Given the description of an element on the screen output the (x, y) to click on. 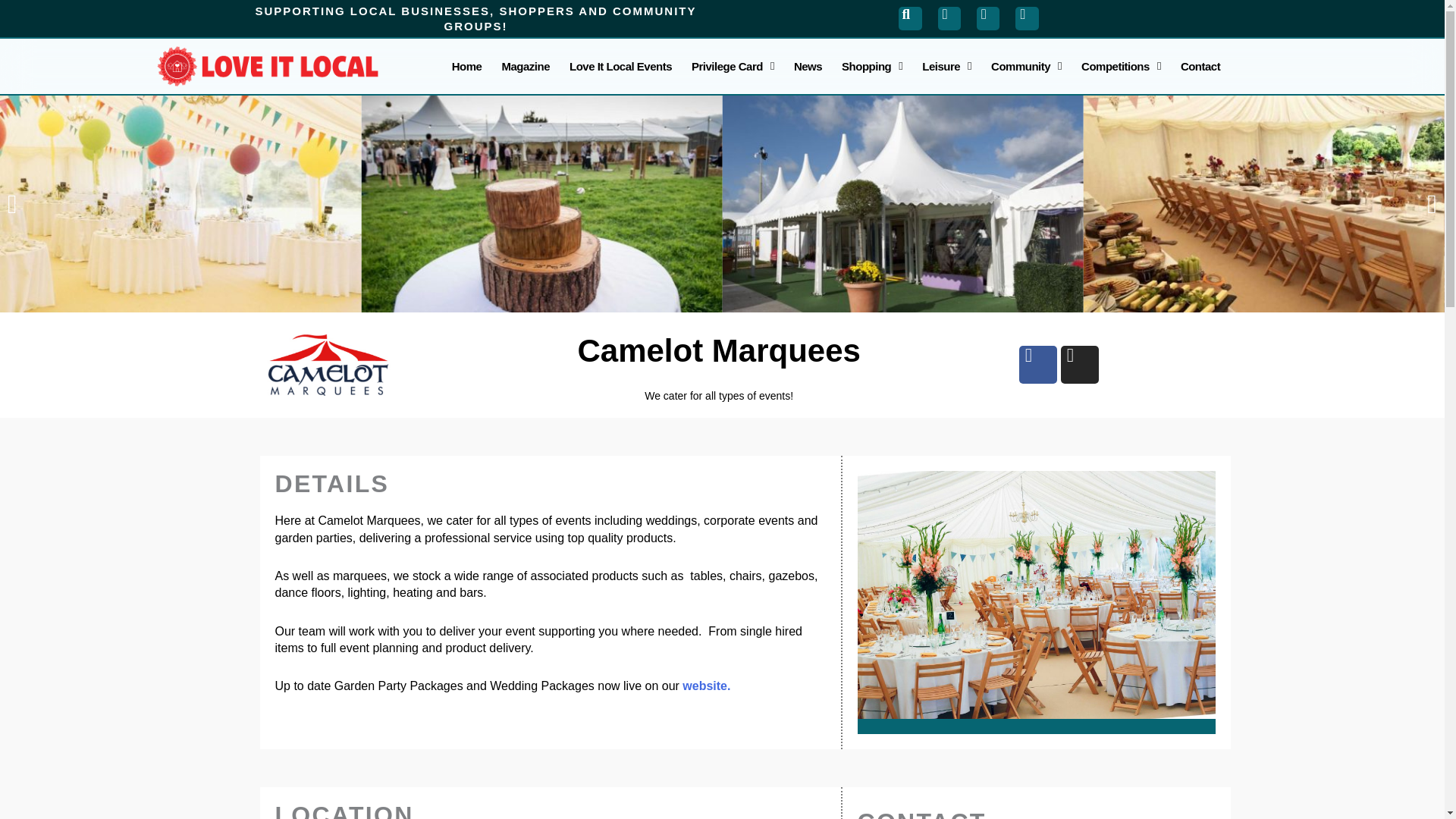
Magazine (525, 66)
Love It Local Events (620, 66)
Search (909, 17)
News (807, 66)
Leisure (946, 66)
Facebook (948, 17)
Instagram (987, 17)
Privilege Card (732, 66)
Shopping (871, 66)
Competitions (1120, 66)
Envelope (1026, 17)
Community (1026, 66)
Home (467, 66)
